Given the description of an element on the screen output the (x, y) to click on. 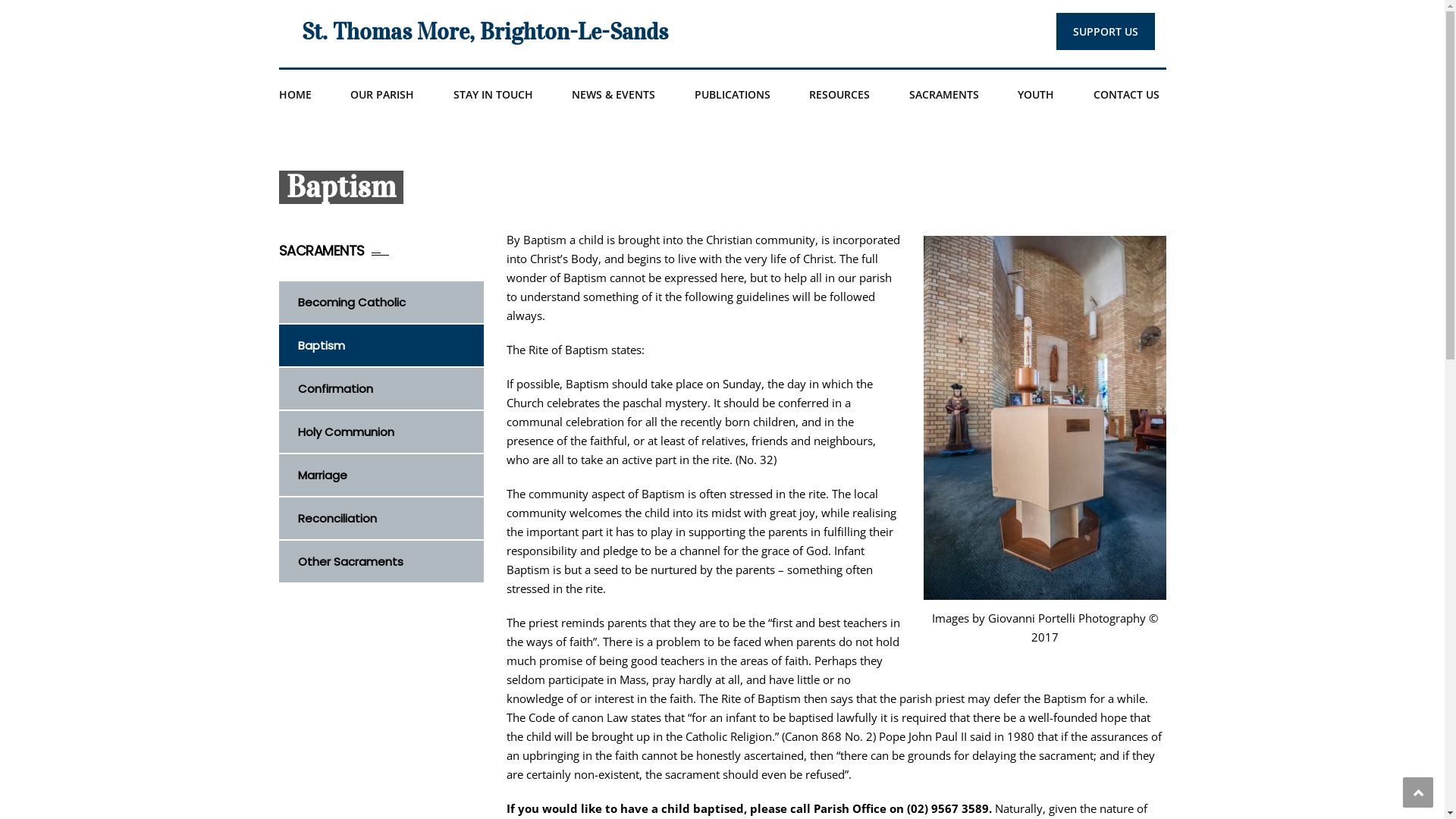
Marriage Element type: text (390, 474)
HOME Element type: text (295, 94)
Becoming Catholic Element type: text (390, 302)
St. Thomas More, Brighton-Le-Sands Element type: text (484, 31)
Reconciliation Element type: text (390, 518)
Confirmation Element type: text (390, 388)
PUBLICATIONS Element type: text (732, 94)
RESOURCES Element type: text (839, 94)
CONTACT US Element type: text (1126, 94)
OUR PARISH Element type: text (382, 94)
STAY IN TOUCH Element type: text (493, 94)
https://www.facebook.com/BrightonYouthGroupByg/ Element type: hover (1131, 143)
YOUTH Element type: text (1035, 94)
Baptism Element type: text (390, 345)
SACRAMENTS Element type: text (943, 94)
Other Sacraments Element type: text (390, 561)
NEWS & EVENTS Element type: text (613, 94)
Holy Communion Element type: text (390, 431)
Search Element type: text (1144, 162)
SUPPORT US Element type: text (1104, 31)
